Given the description of an element on the screen output the (x, y) to click on. 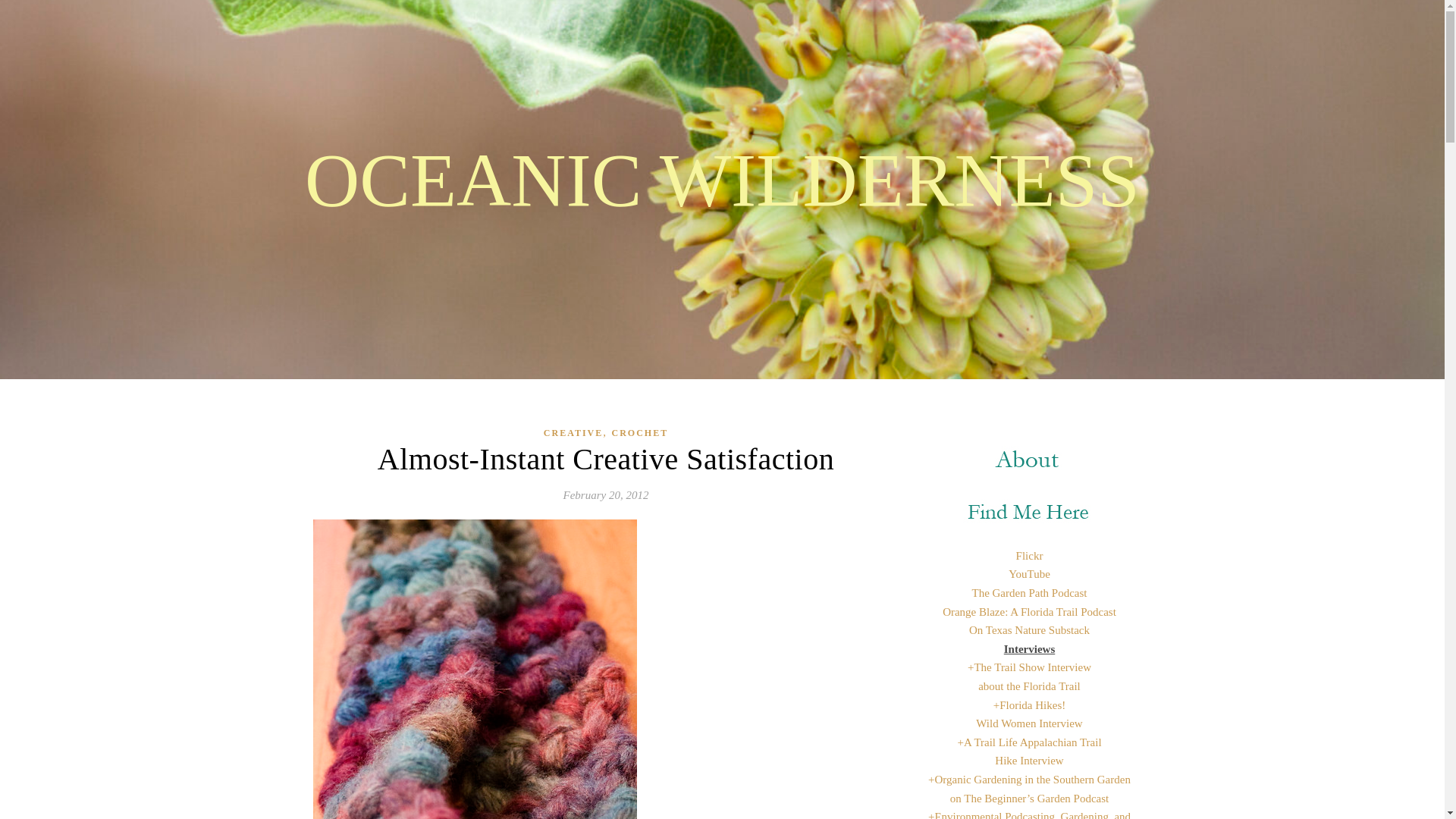
YouTube (1029, 573)
CROCHET (639, 433)
CREATIVE (572, 433)
Flickr (1029, 555)
